Given the description of an element on the screen output the (x, y) to click on. 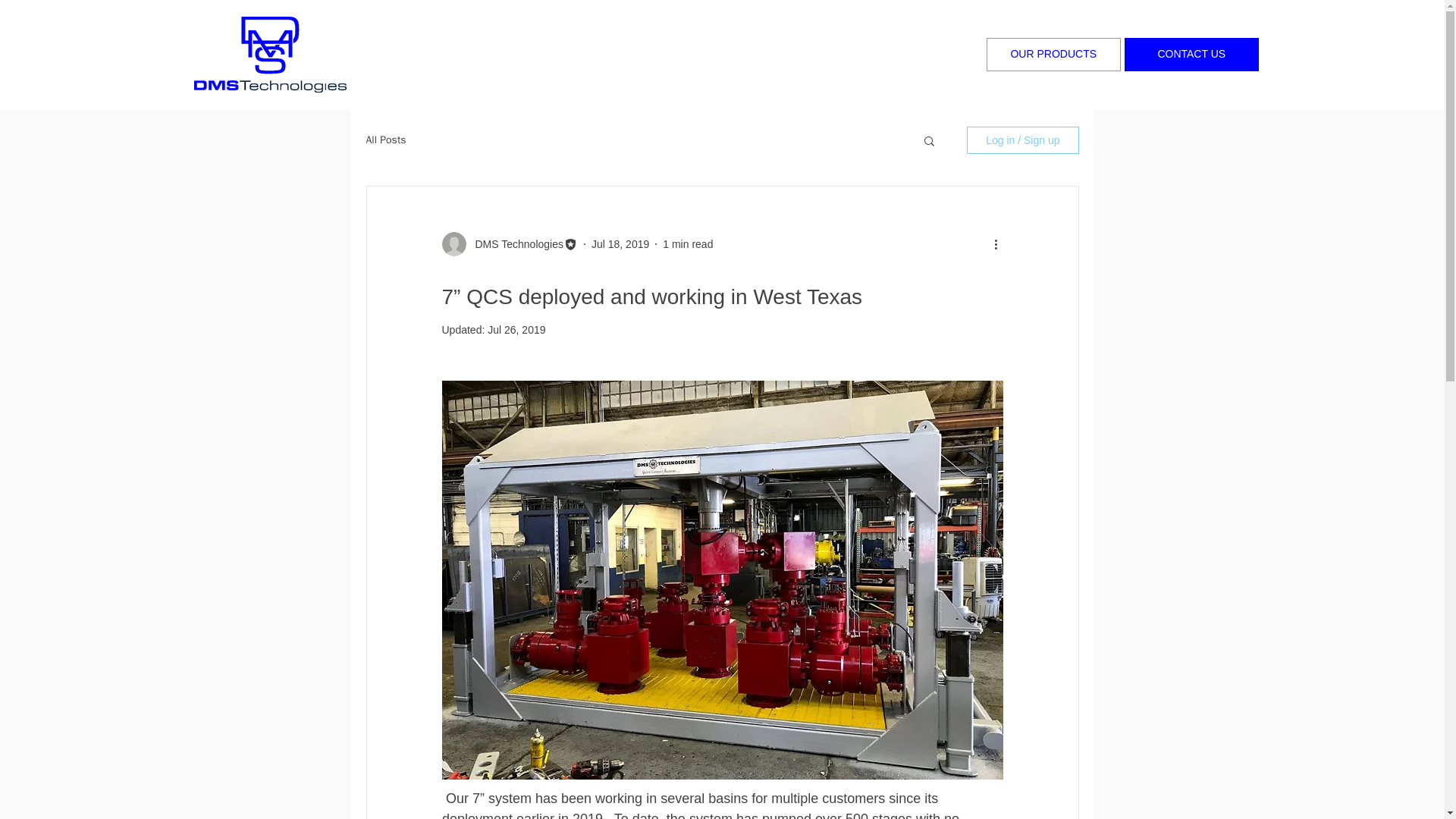
DMS Technologies  (513, 244)
OUR PRODUCTS (1054, 54)
1 min read (687, 244)
Jul 18, 2019 (620, 244)
Jul 26, 2019 (515, 329)
CONTACT US (1191, 54)
All Posts (385, 140)
